Given the description of an element on the screen output the (x, y) to click on. 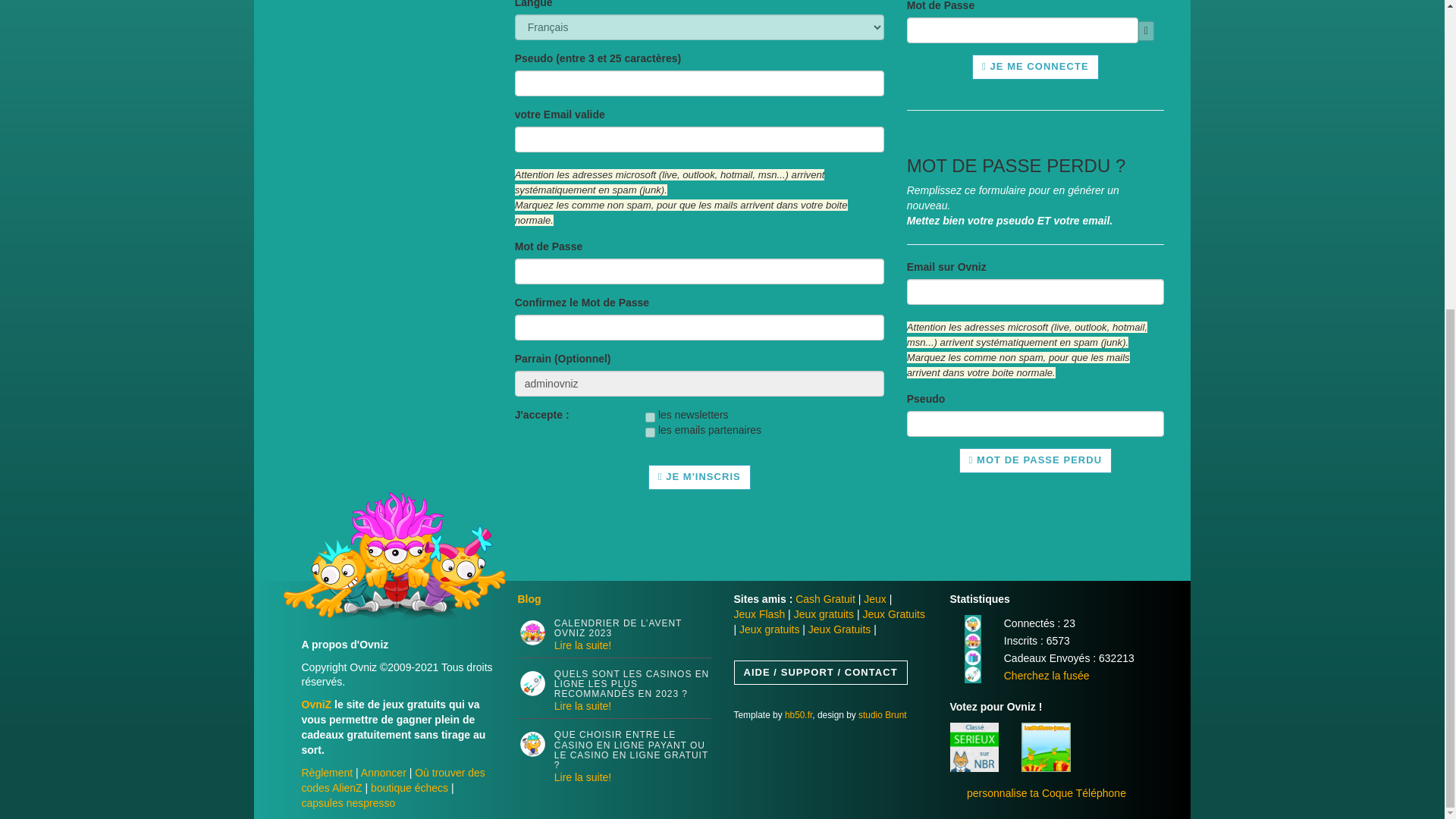
Jeux en ligne pour gagner de l'argent (825, 598)
Portail des Jeux Gratuits (874, 598)
adminovniz (699, 383)
on (650, 432)
capsules rechargeables nespresso (348, 802)
Jeux Flash (759, 613)
on (650, 417)
Jeux gratuits (823, 613)
